Given the description of an element on the screen output the (x, y) to click on. 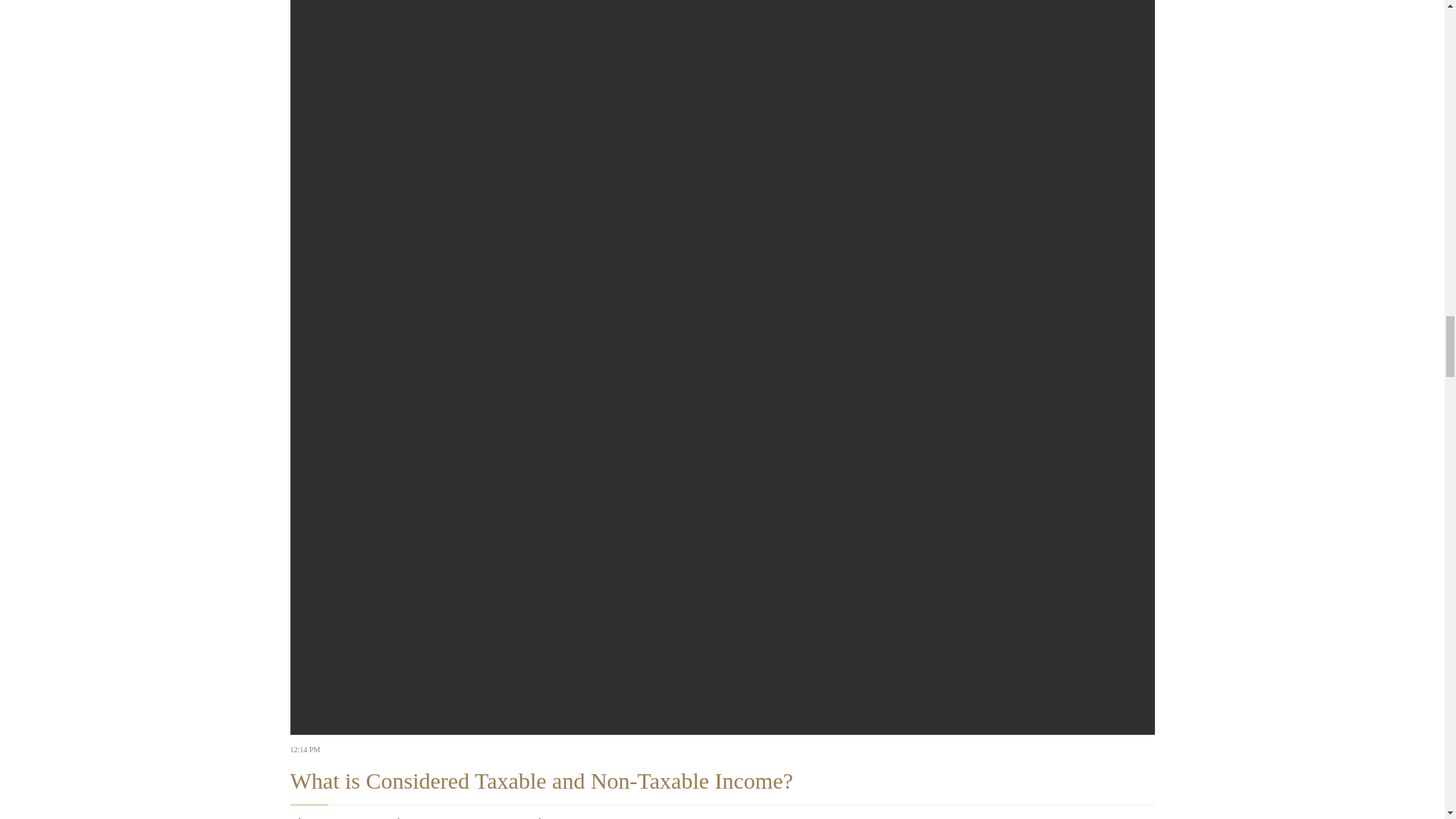
What is Considered Taxable and Non-Taxable Income? (540, 780)
